Given the description of an element on the screen output the (x, y) to click on. 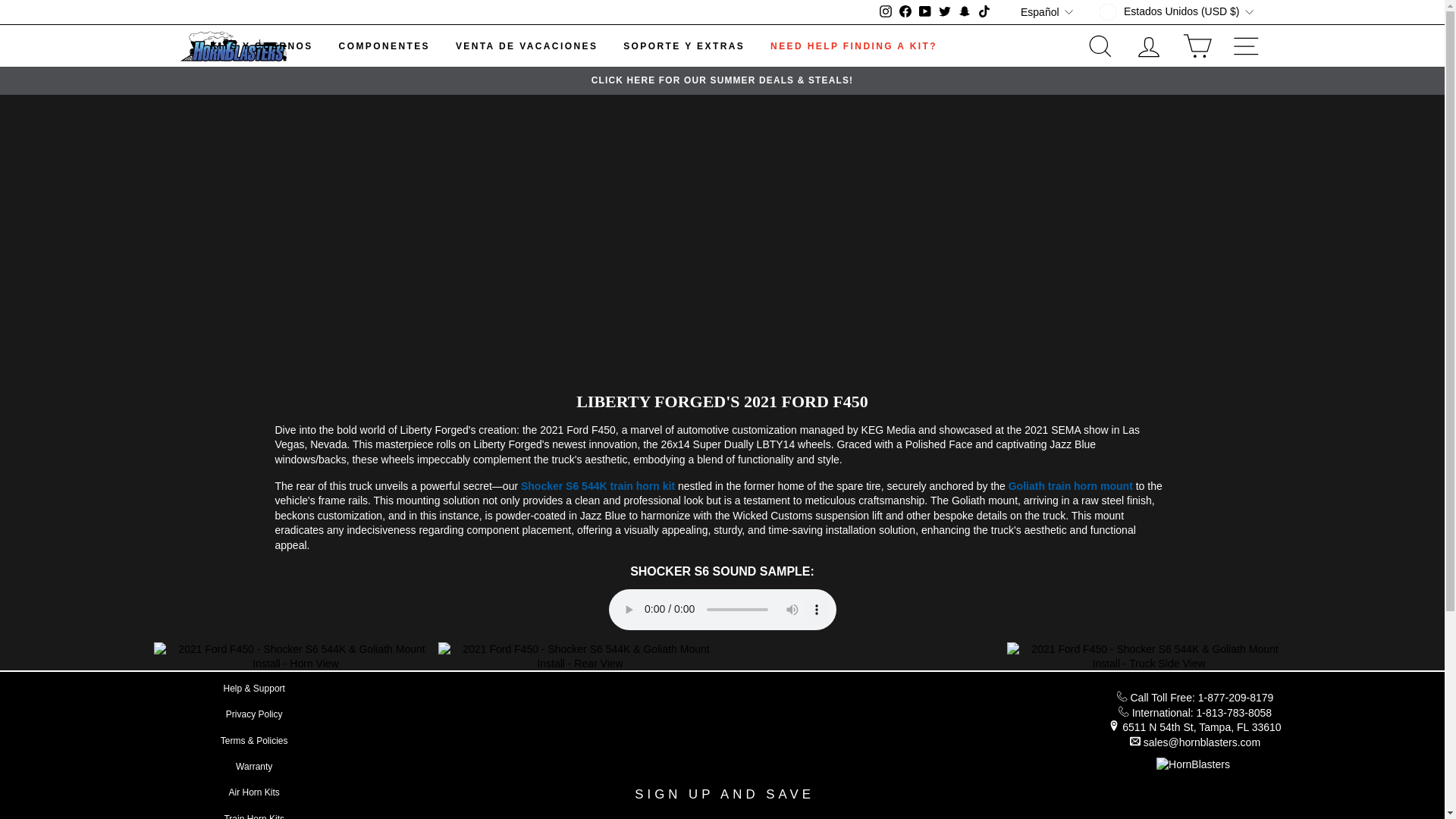
HornBlasters en TikTok (984, 12)
location2 (1113, 725)
envelop (1134, 740)
phone (1121, 696)
HornBlasters en Snapchat (964, 12)
HornBlasters en Twitter (944, 12)
phone (1123, 710)
HornBlasters en Facebook (905, 12)
HornBlasters en YouTube (924, 12)
